Given the description of an element on the screen output the (x, y) to click on. 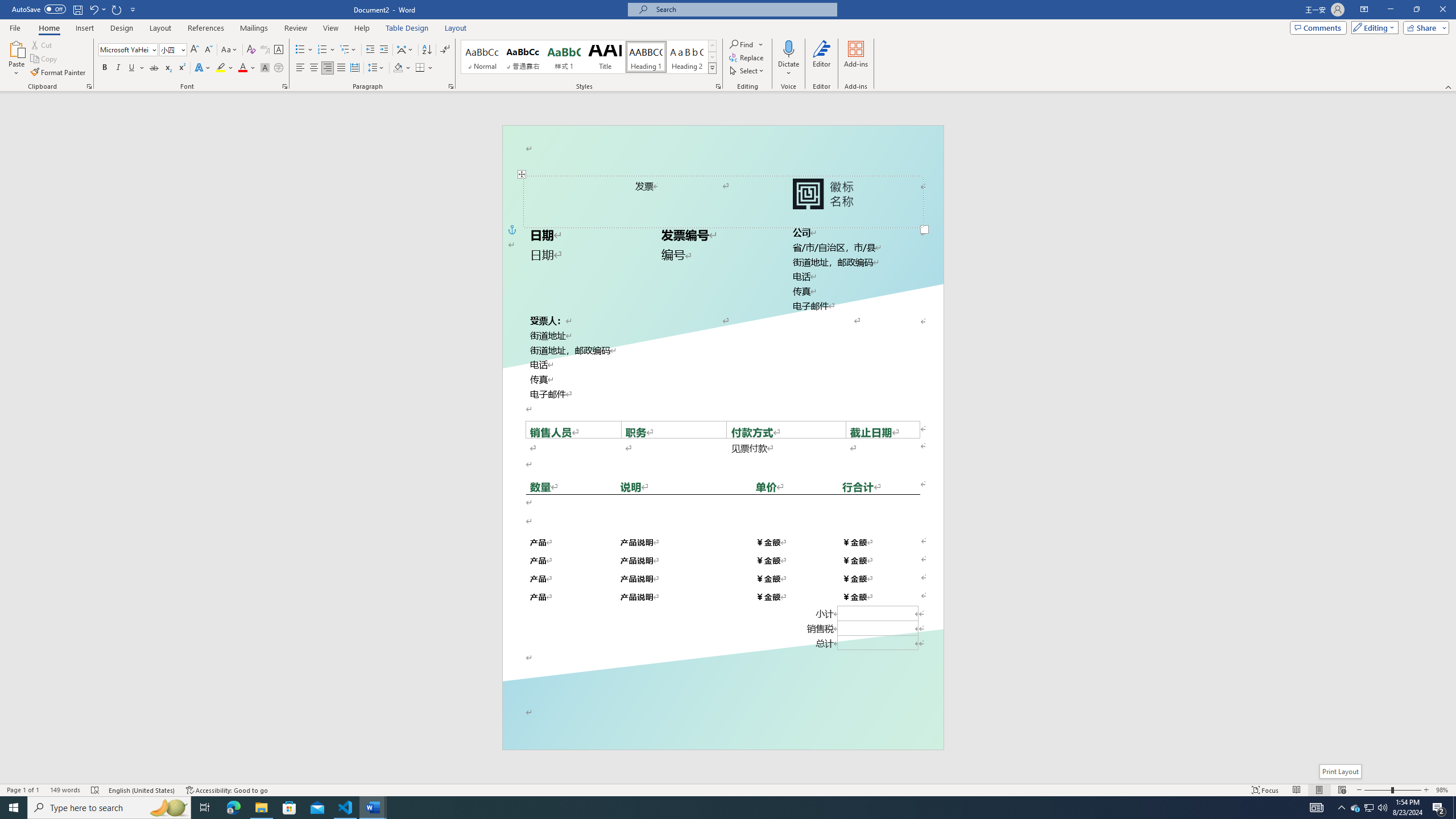
First Page Header -Section 1- (722, 140)
Undo Apply Quick Style (92, 9)
Subscript (167, 67)
Repeat Doc Close (117, 9)
